Given the description of an element on the screen output the (x, y) to click on. 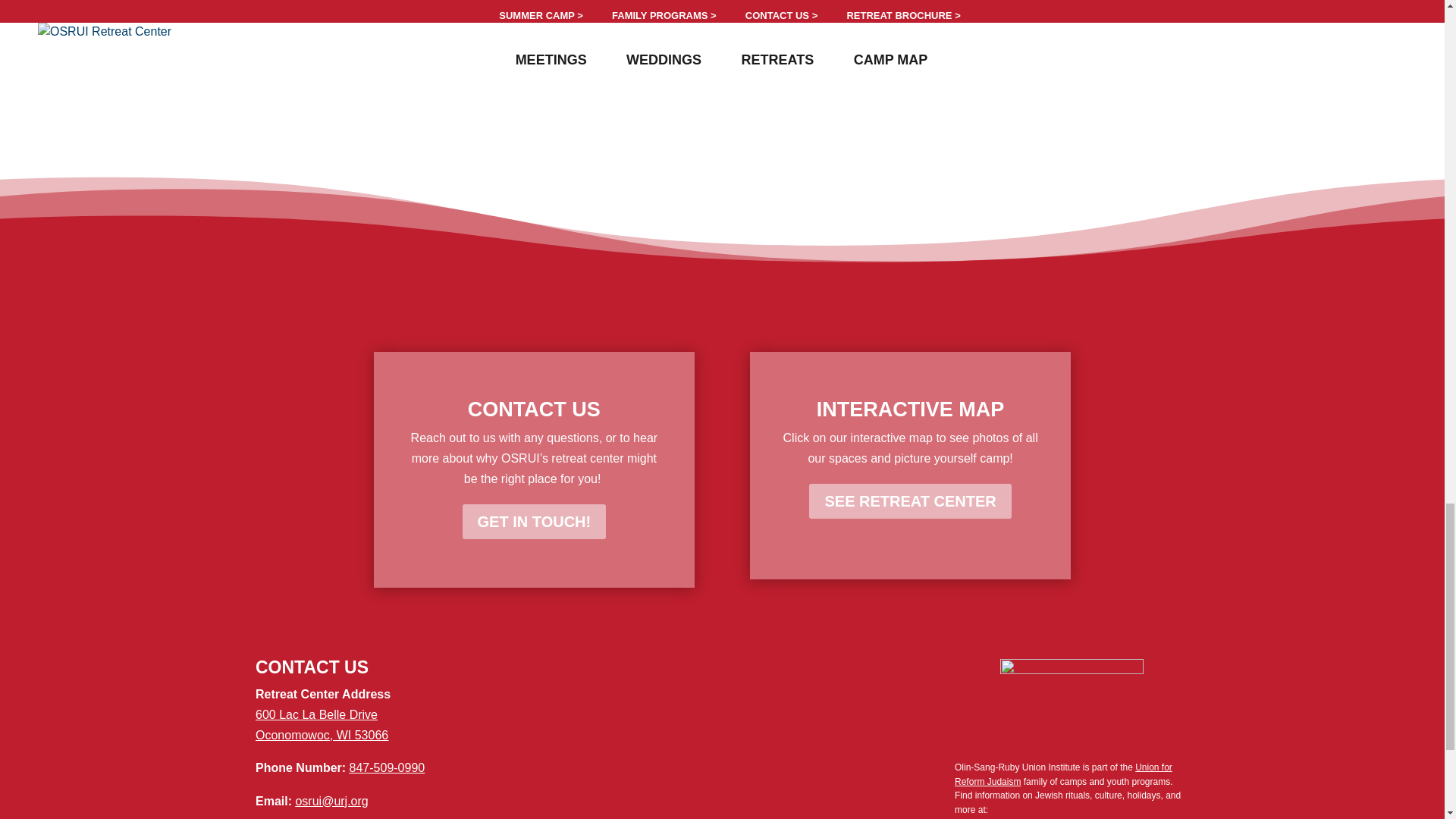
GET IN TOUCH! (535, 521)
SEE RETREAT CENTER (909, 501)
600 Lac La Belle Drive (316, 714)
Union for Reform Judaism (1063, 774)
847-509-0990 (387, 767)
Oconomowoc, WI 53066 (322, 735)
